Given the description of an element on the screen output the (x, y) to click on. 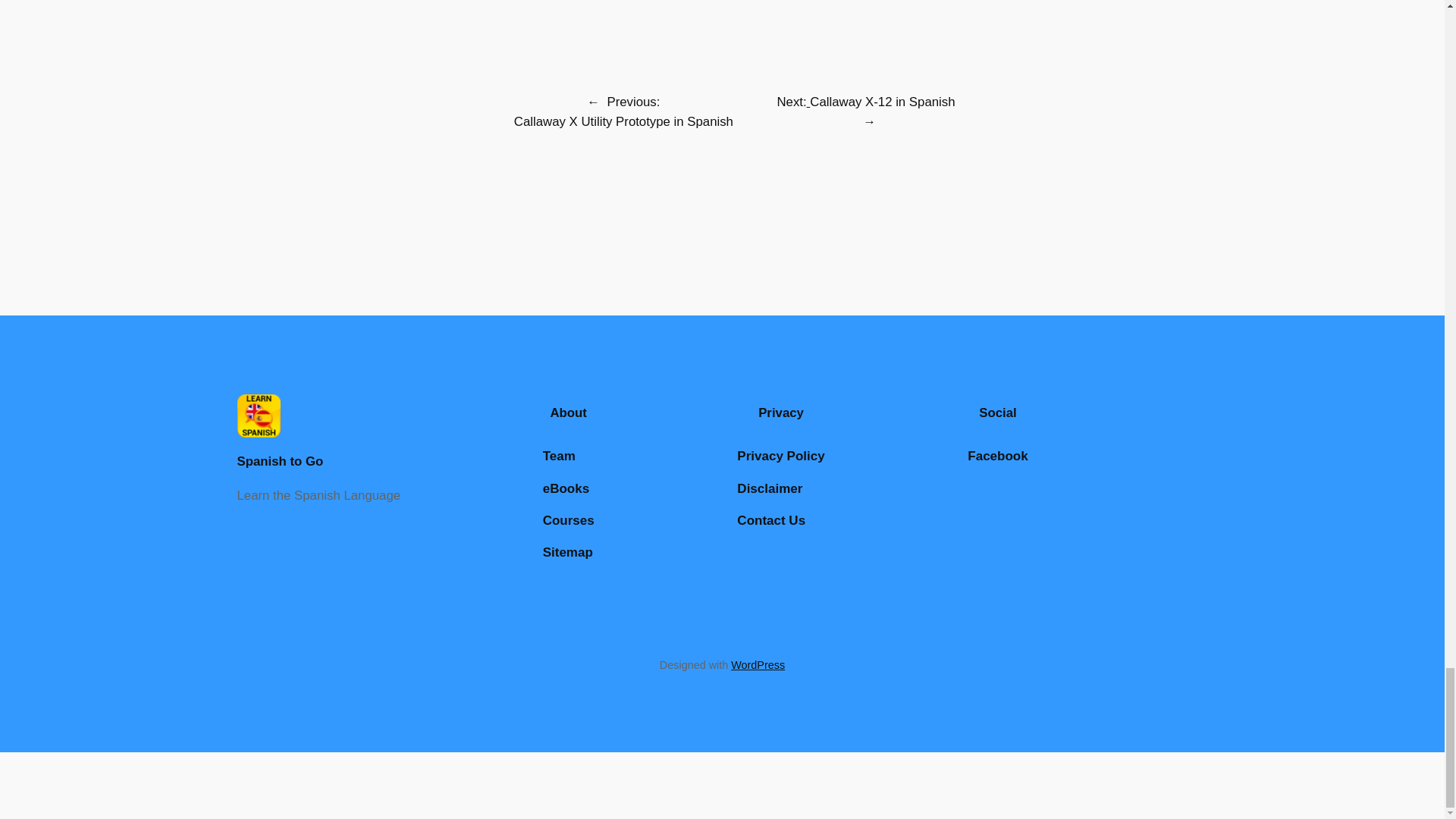
Previous: Callaway X Utility Prototype in Spanish (623, 111)
Spanish to Go (279, 461)
Next: Callaway X-12 in Spanish (865, 101)
